Given the description of an element on the screen output the (x, y) to click on. 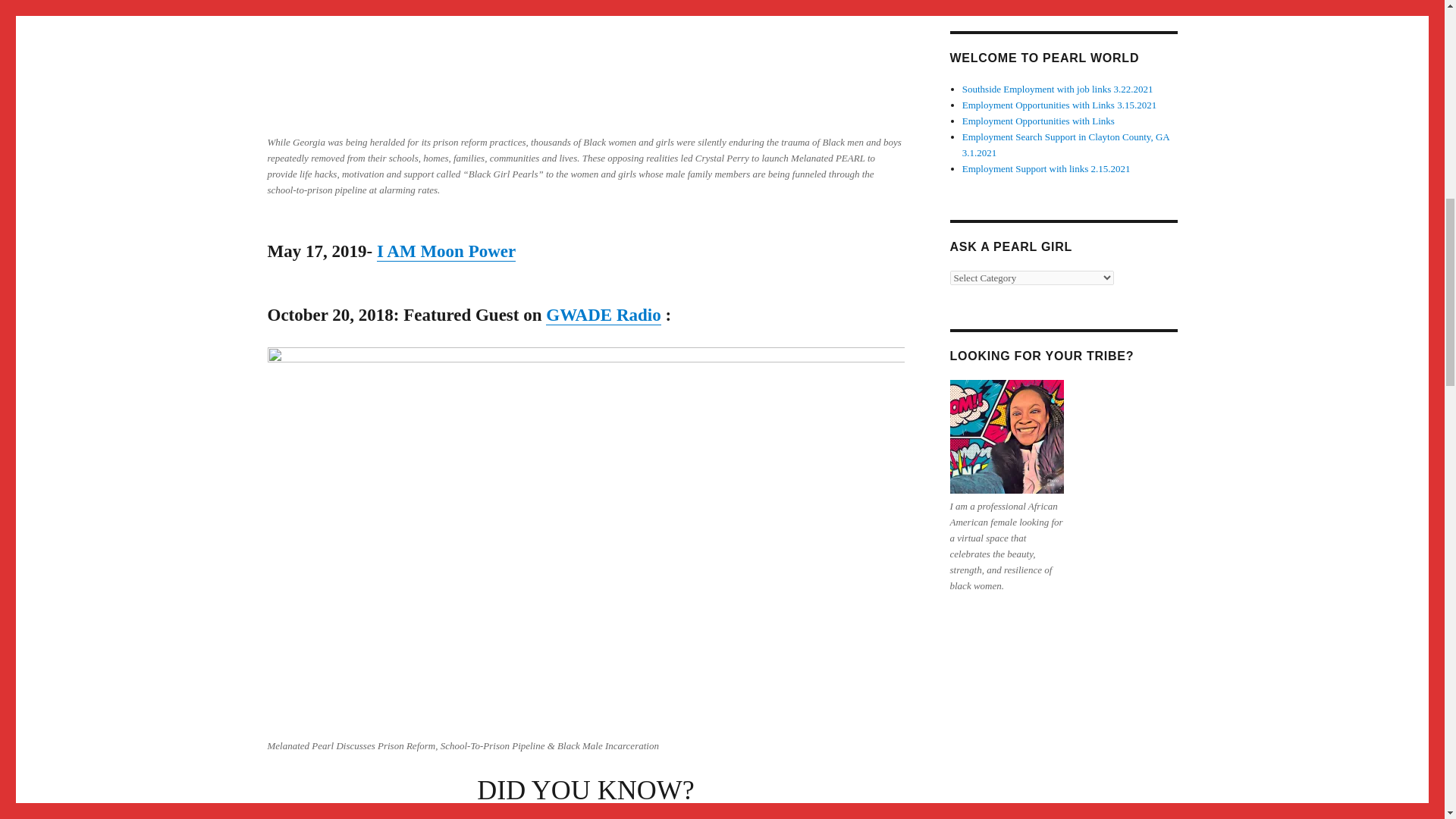
I AM Moon Power (446, 251)
Southside Employment with job links 3.22.2021 (1057, 89)
Employment Opportunities with Links 3.15.2021 (1059, 104)
Employment Support with links 2.15.2021 (1046, 168)
Employment Opportunities with Links (1038, 120)
GWADE Radio (603, 314)
Employment Search Support in Clayton County, GA 3.1.2021 (1065, 144)
